Given the description of an element on the screen output the (x, y) to click on. 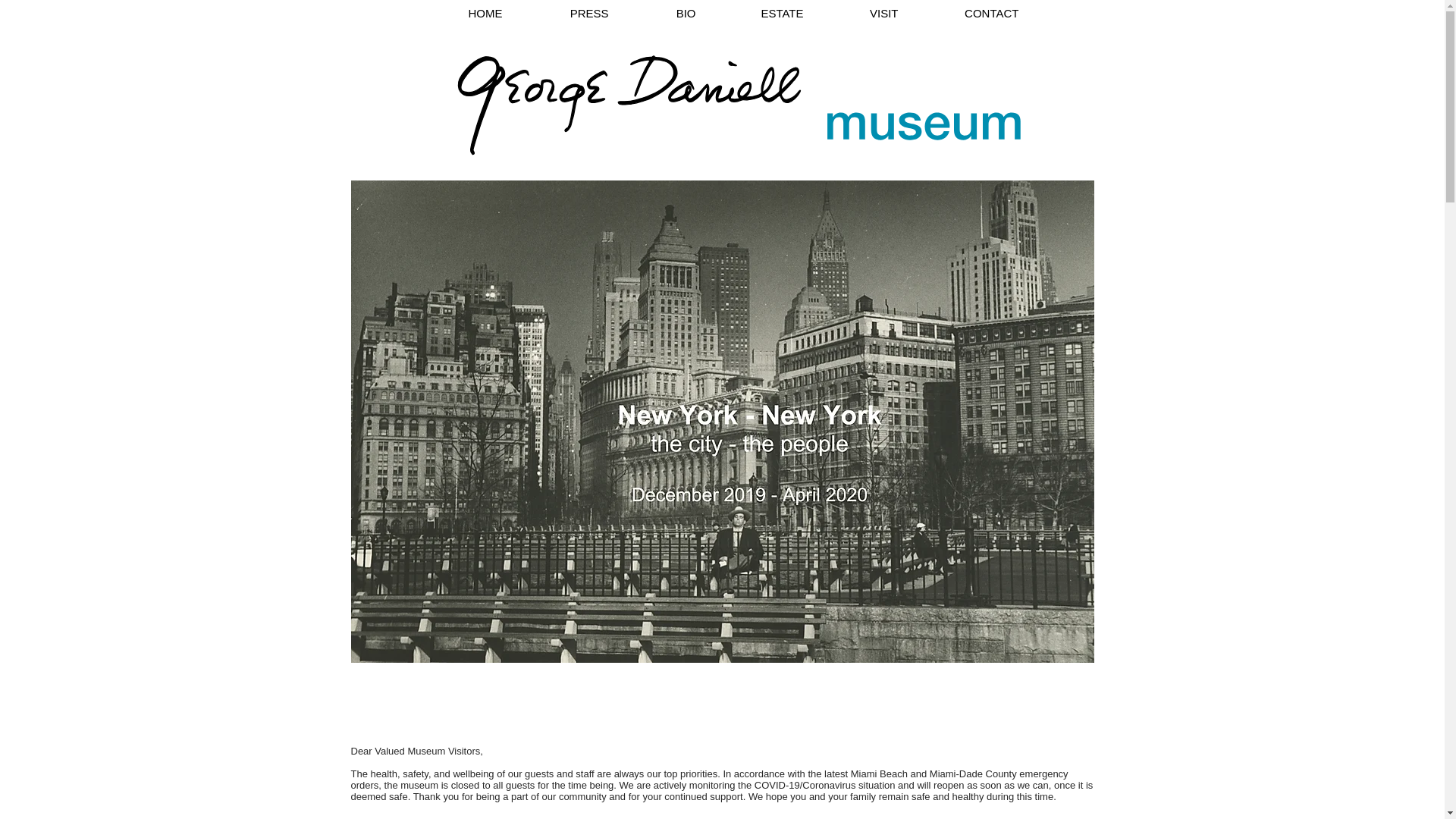
HOME (463, 13)
ESTATE (761, 13)
CONTACT (971, 13)
VISIT (863, 13)
PRESS (568, 13)
BIO (665, 13)
